Given the description of an element on the screen output the (x, y) to click on. 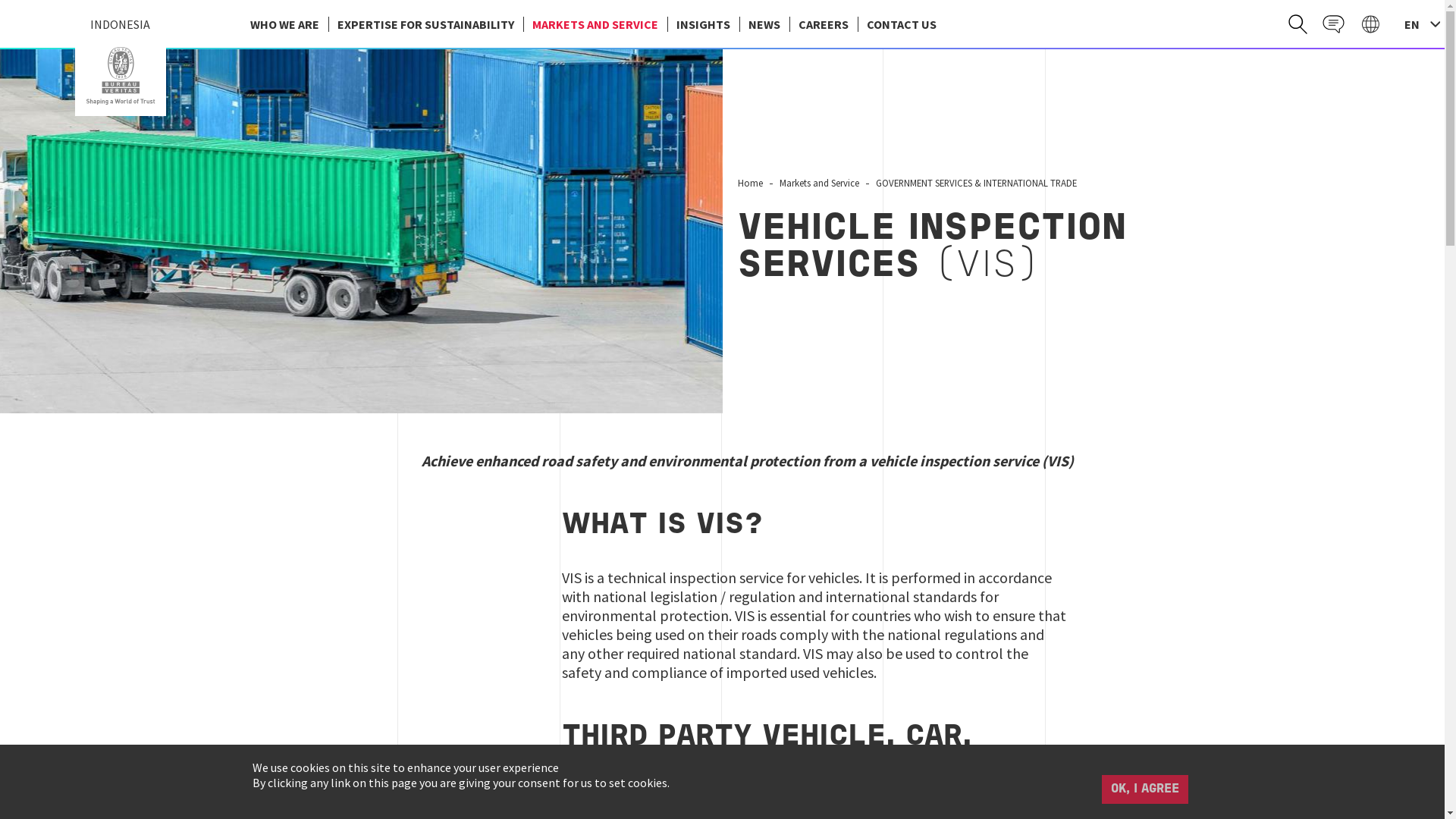
MARKETS AND SERVICE (594, 23)
WHO WE ARE (285, 23)
Home (120, 76)
Indonesia (120, 76)
EXPERTISE FOR SUSTAINABILITY (424, 23)
